Given the description of an element on the screen output the (x, y) to click on. 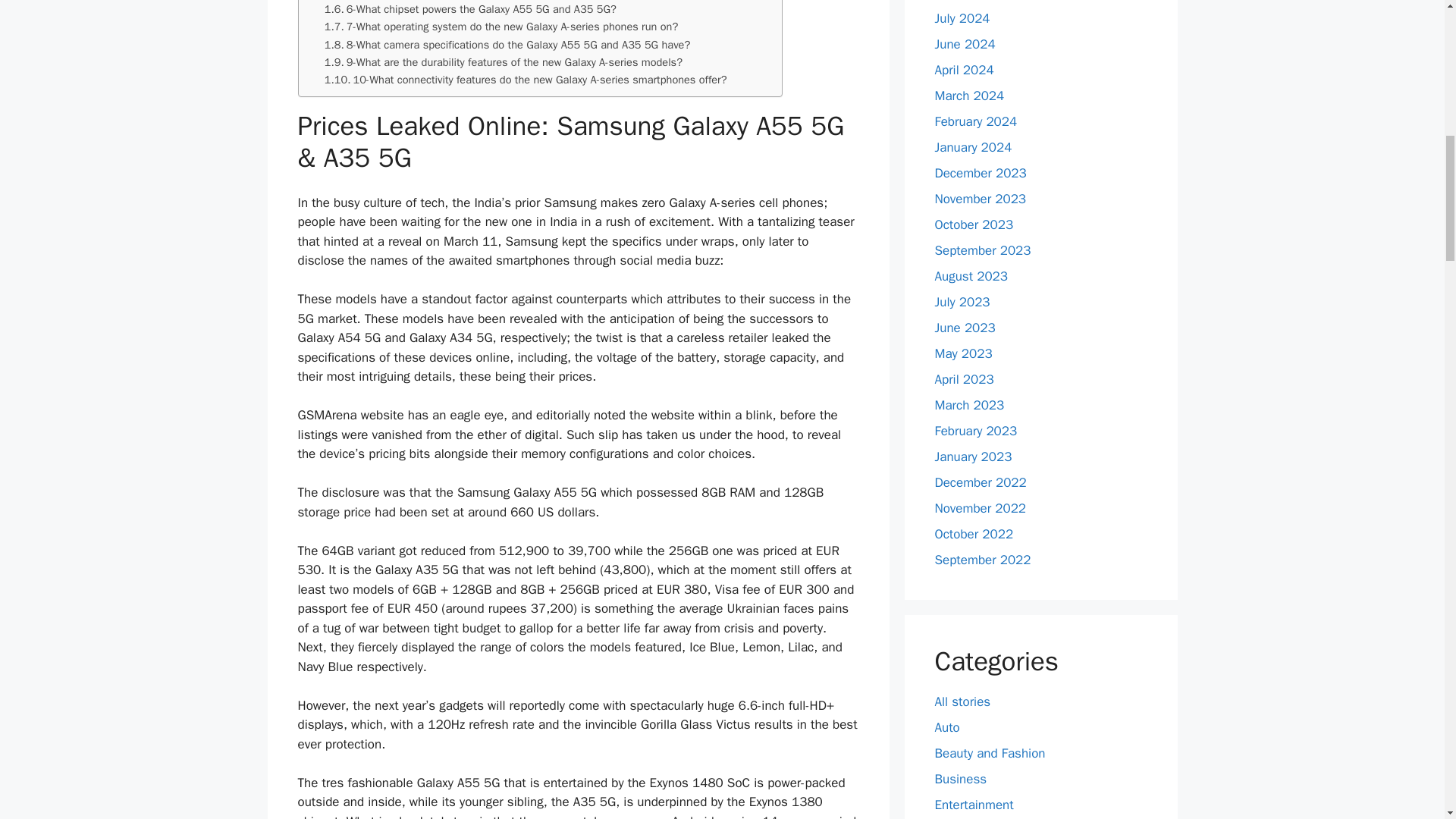
6-What chipset powers the Galaxy A55 5G and A35 5G? (469, 9)
6-What chipset powers the Galaxy A55 5G and A35 5G? (469, 9)
